Given the description of an element on the screen output the (x, y) to click on. 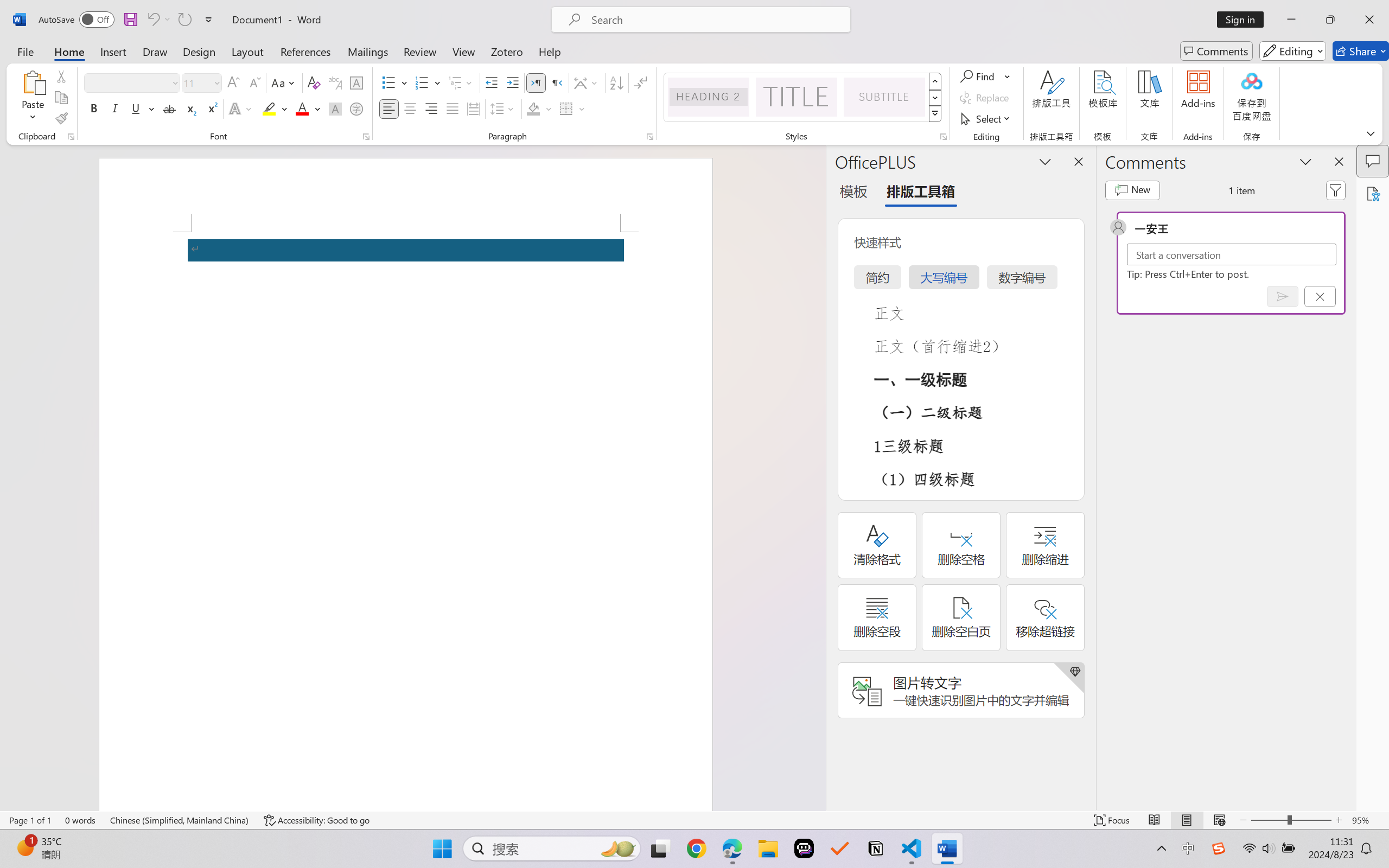
Post comment (Ctrl + Enter) (1282, 296)
Sign in (1244, 19)
